Given the description of an element on the screen output the (x, y) to click on. 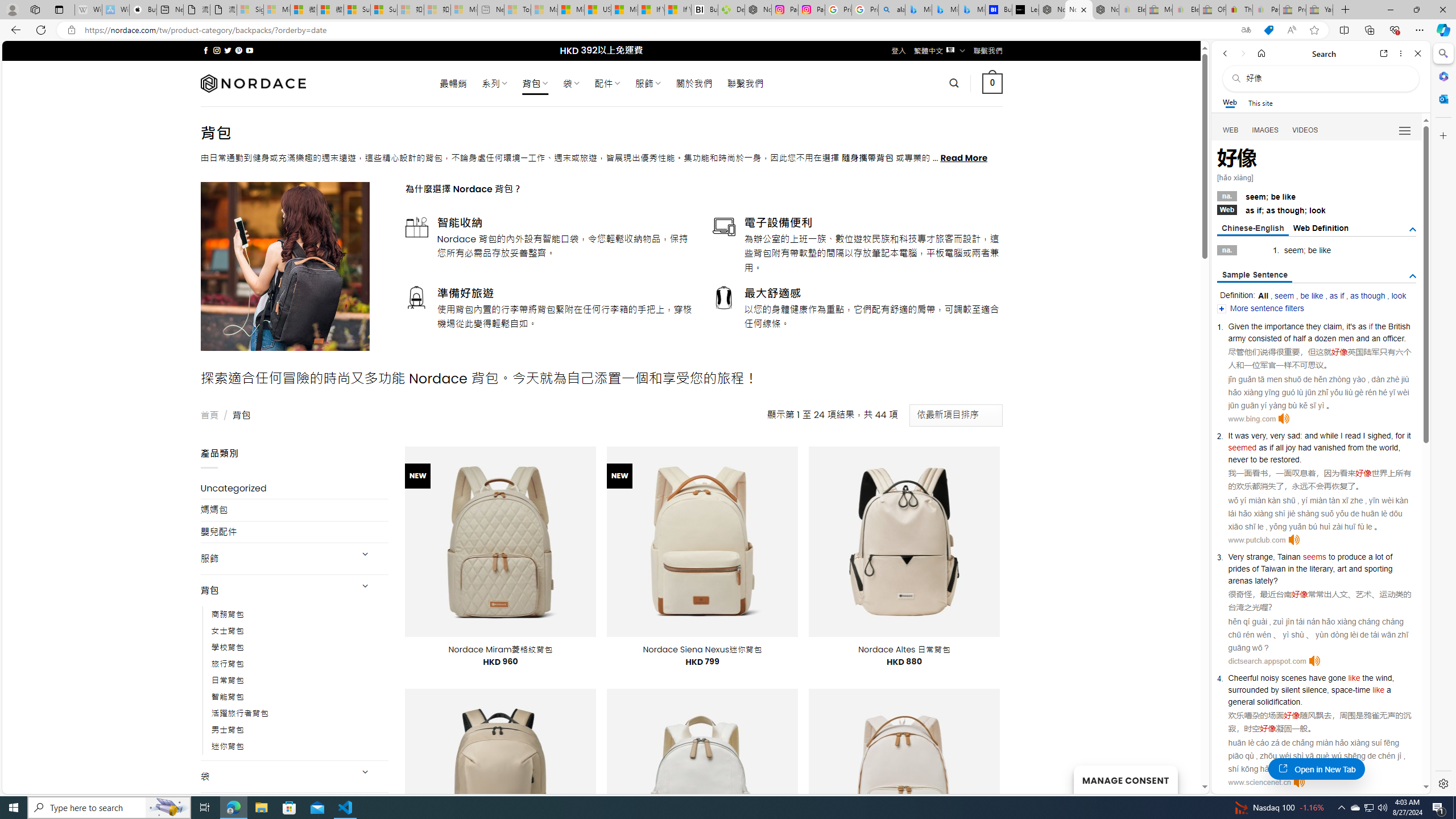
like (1378, 689)
www.bing.com (1251, 418)
lately (1264, 580)
I (1363, 435)
